Given the description of an element on the screen output the (x, y) to click on. 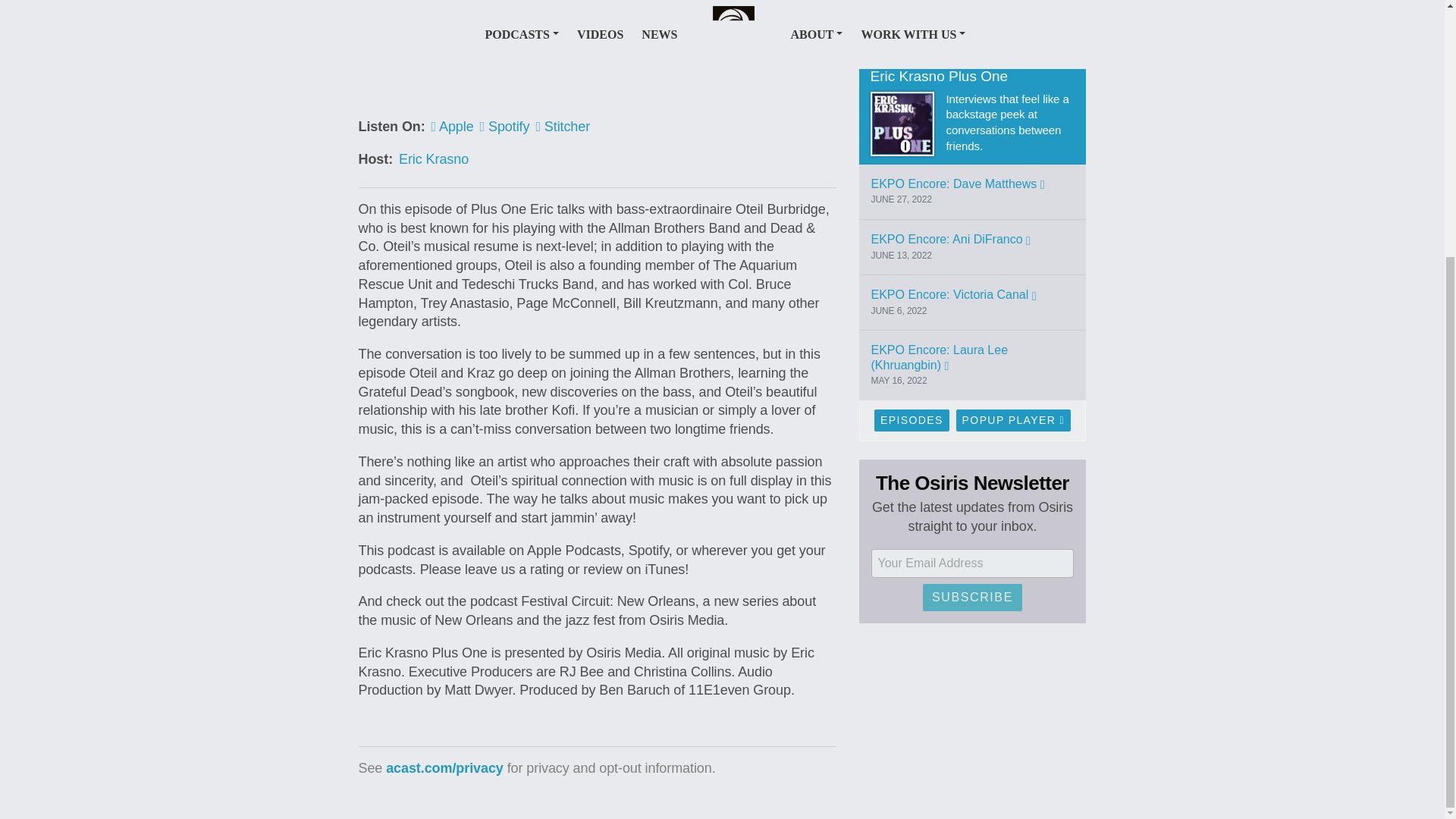
Spotify (504, 126)
Apple (452, 126)
Subscribe (972, 367)
Stitcher (562, 126)
Eric Krasno (433, 159)
